Given the description of an element on the screen output the (x, y) to click on. 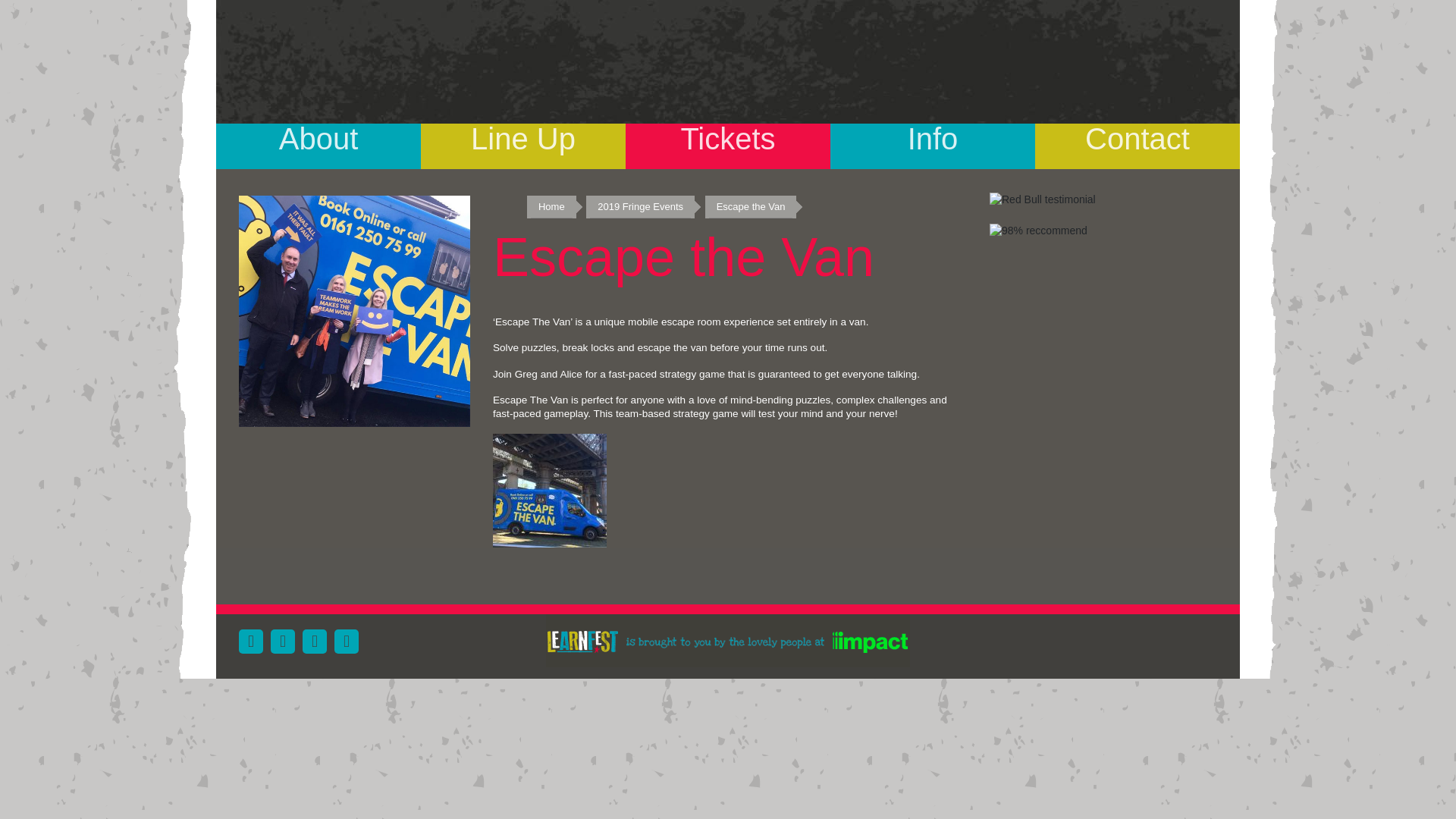
Info (932, 141)
Tickets (727, 141)
Contact (1137, 141)
Escape the Van (751, 206)
About (317, 141)
Home (551, 206)
About (317, 141)
Line Up (523, 141)
2019 Fringe Events (639, 206)
